Given the description of an element on the screen output the (x, y) to click on. 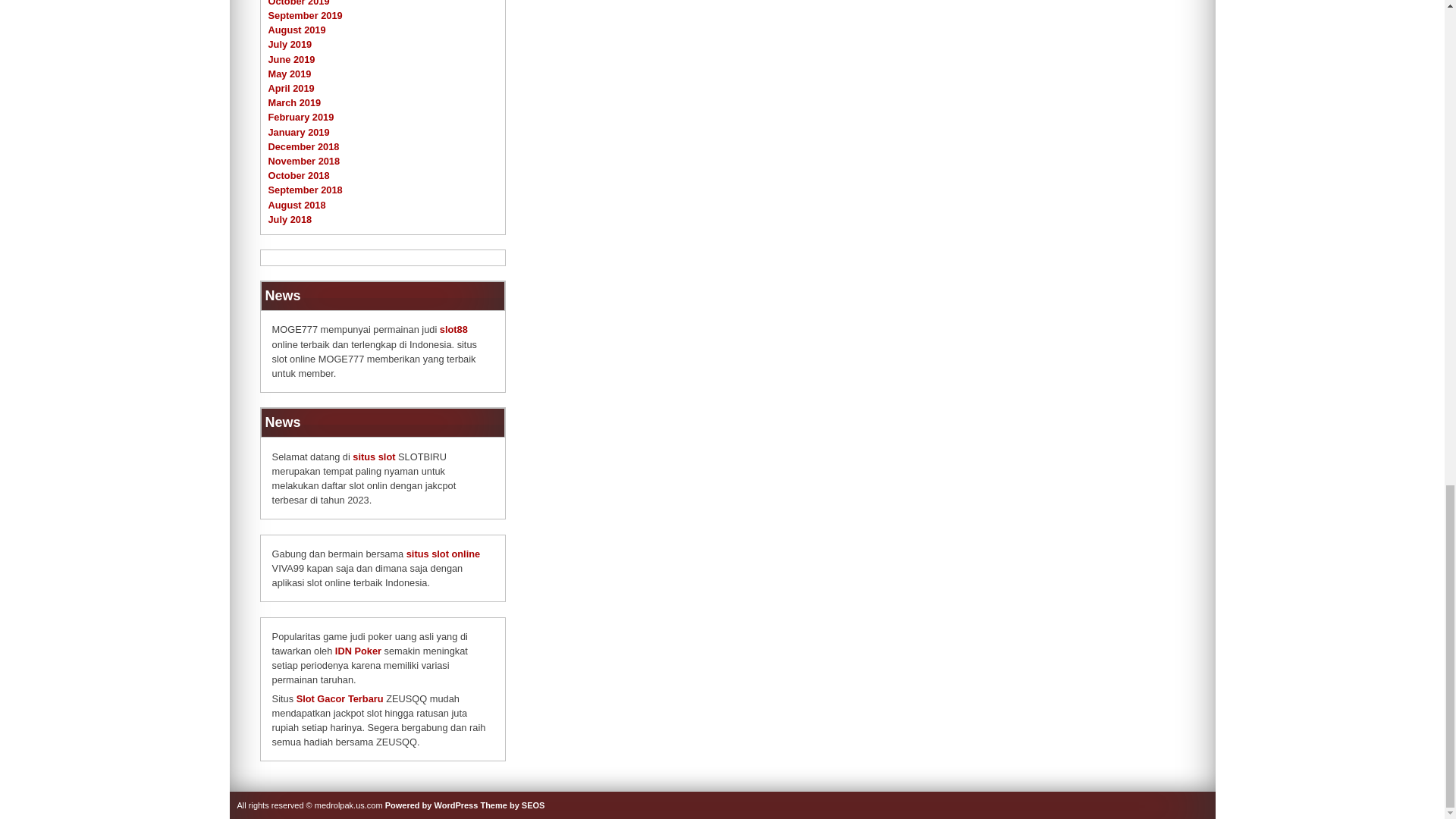
Seos free wordpress themes (512, 804)
